Given the description of an element on the screen output the (x, y) to click on. 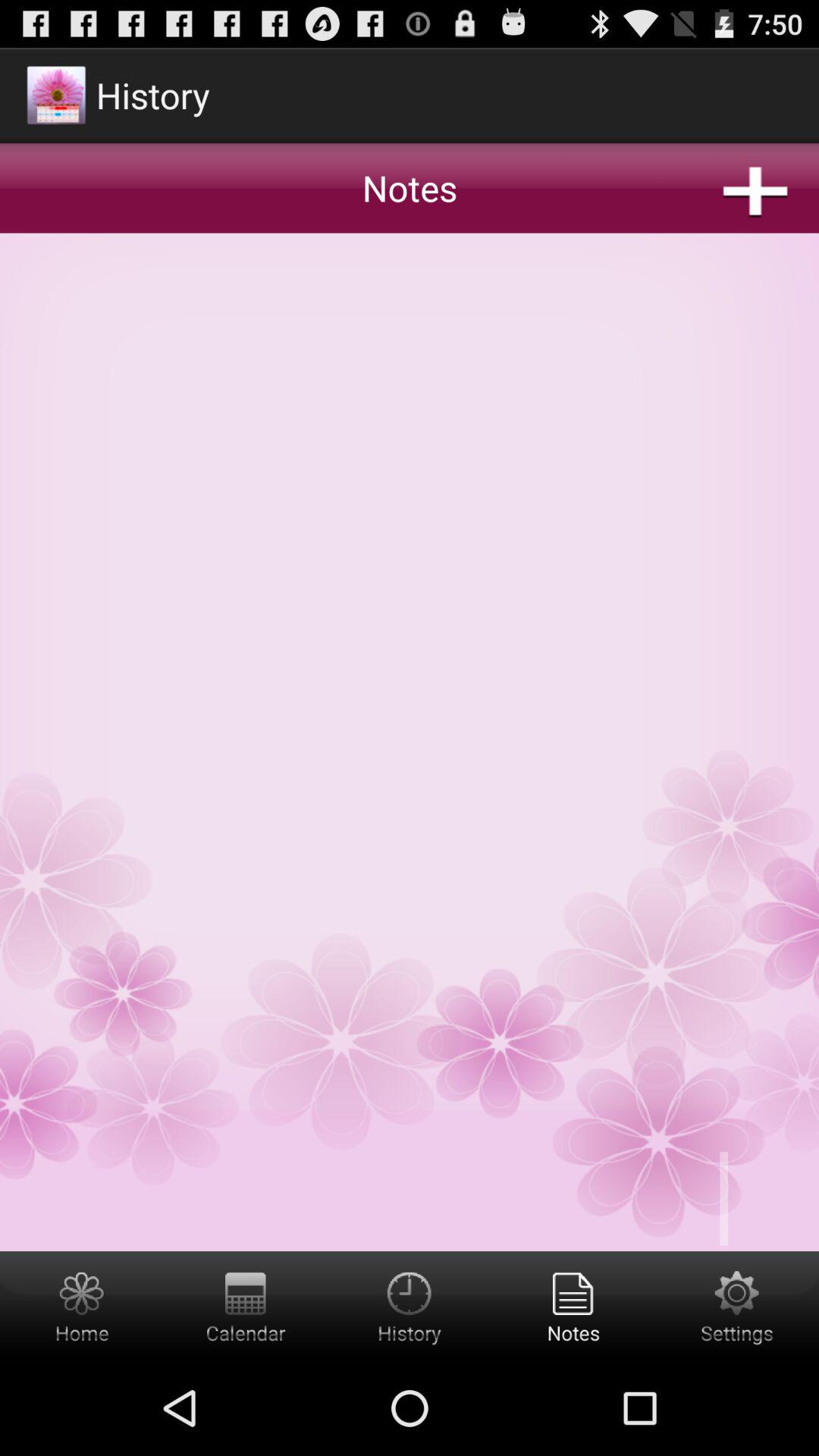
enter notes (573, 1305)
